Given the description of an element on the screen output the (x, y) to click on. 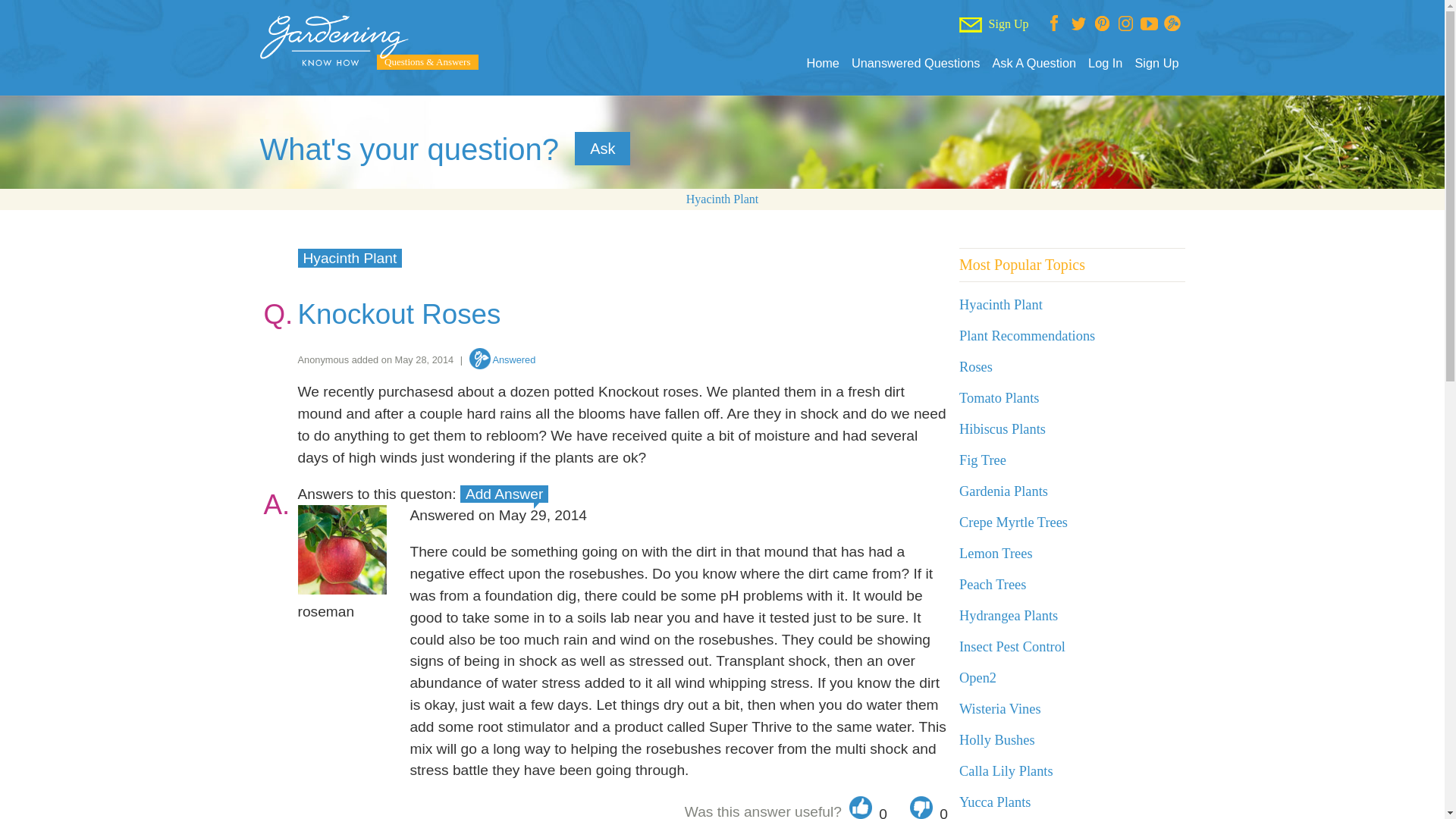
Hyacinth Plant (1000, 304)
Hydrangea Plants (1008, 615)
Gardenia Plants (1003, 491)
Tomato Plants (999, 397)
Answered (501, 359)
Crepe Myrtle Trees (1013, 522)
Log In (1104, 62)
Lemon Trees (995, 553)
Hyacinth Plant (1000, 304)
Fig Tree (982, 459)
